Given the description of an element on the screen output the (x, y) to click on. 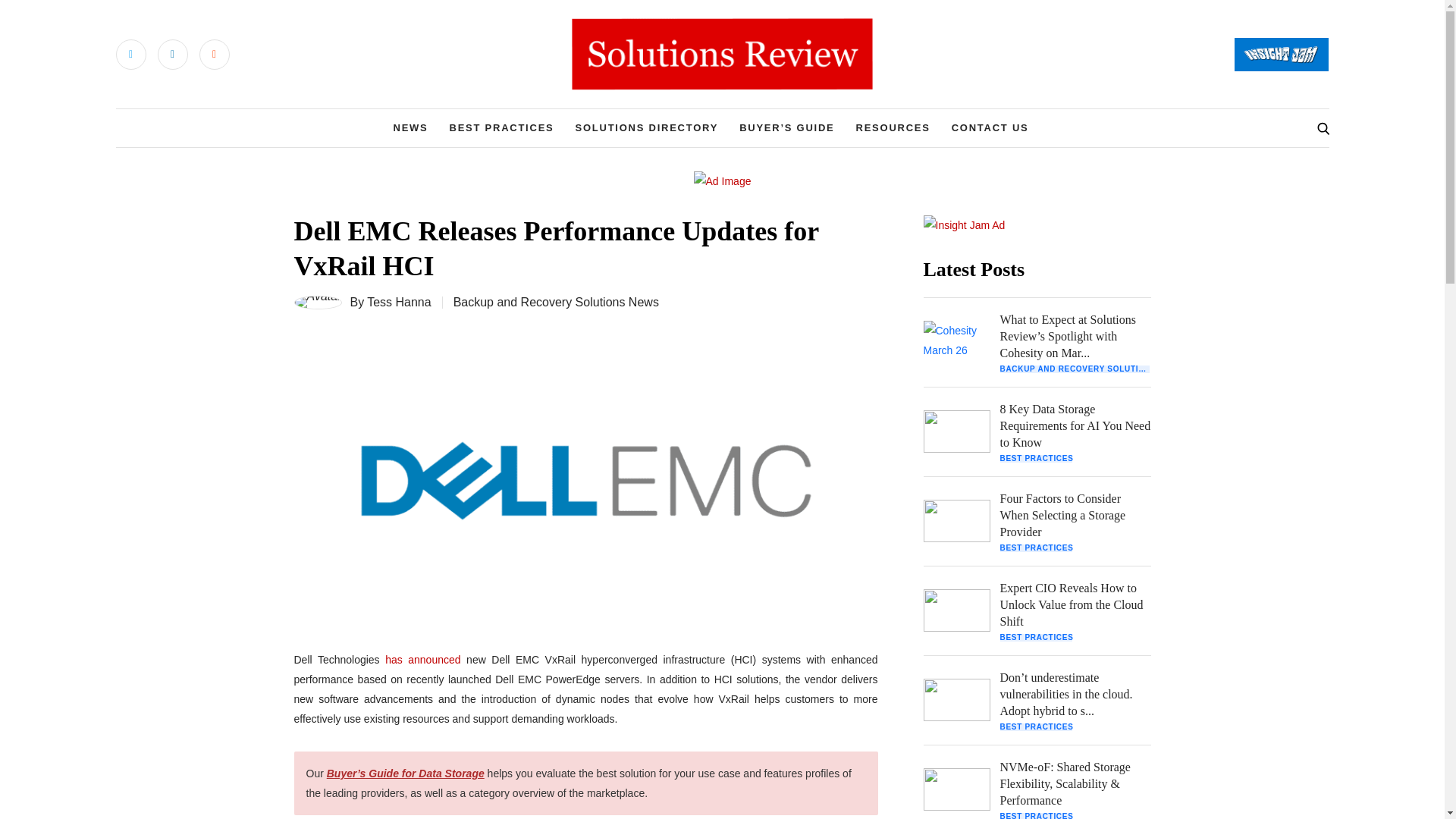
BEST PRACTICES (501, 127)
CONTACT US (990, 127)
RESOURCES (893, 127)
has announced (422, 659)
Backup and Recovery Solutions News (555, 301)
Tess Hanna (398, 302)
NEWS (410, 127)
Insight Jam Ad (964, 225)
SOLUTIONS DIRECTORY (646, 127)
